Given the description of an element on the screen output the (x, y) to click on. 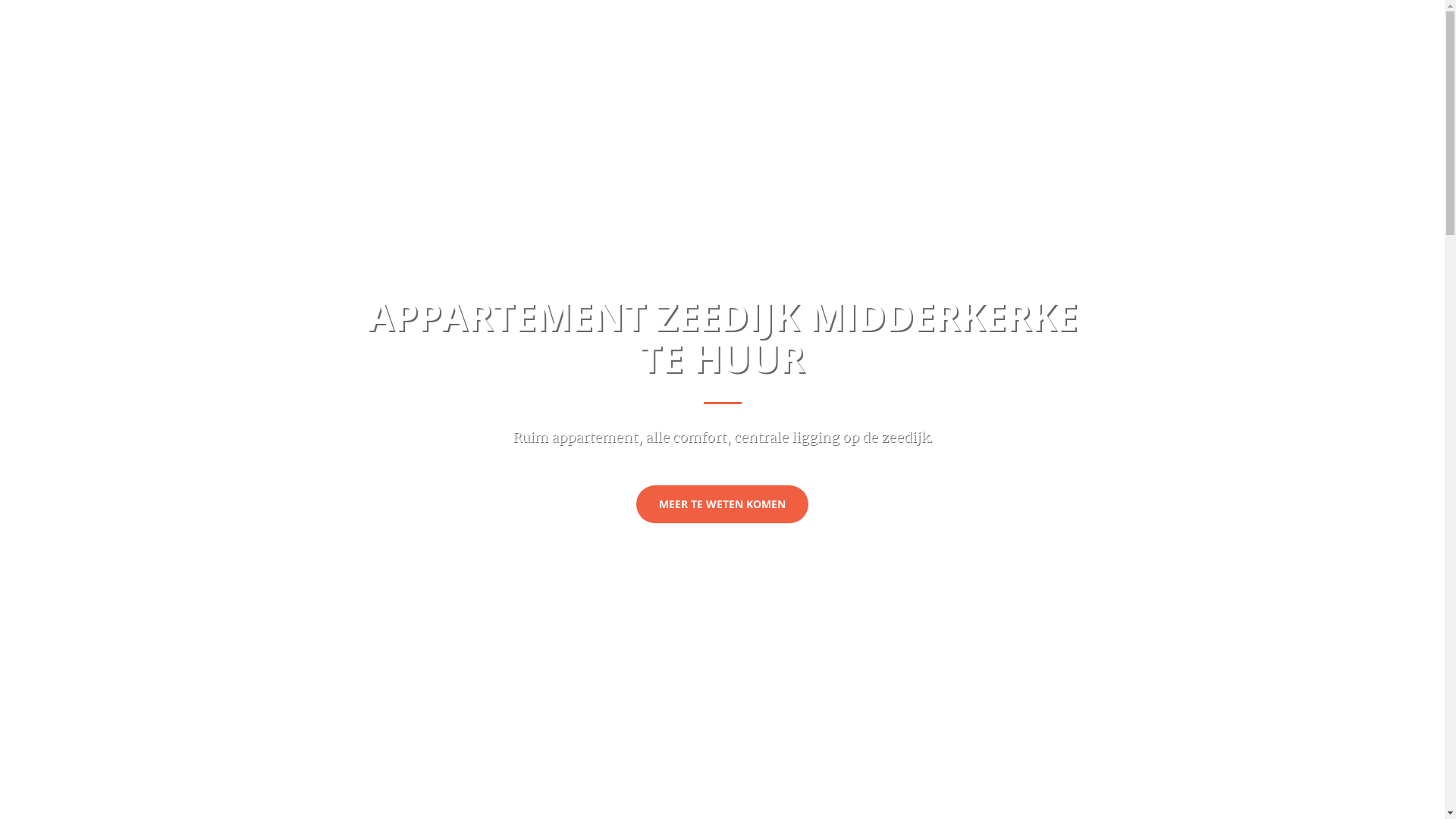
OVER Element type: text (1246, 18)
CONTACT Element type: text (1409, 18)
MEER TE WETEN KOMEN Element type: text (722, 504)
FOTO'S Element type: text (1345, 18)
INFO Element type: text (1293, 18)
APPARTEMENT MIDDELKERKE Element type: text (109, 18)
